Given the description of an element on the screen output the (x, y) to click on. 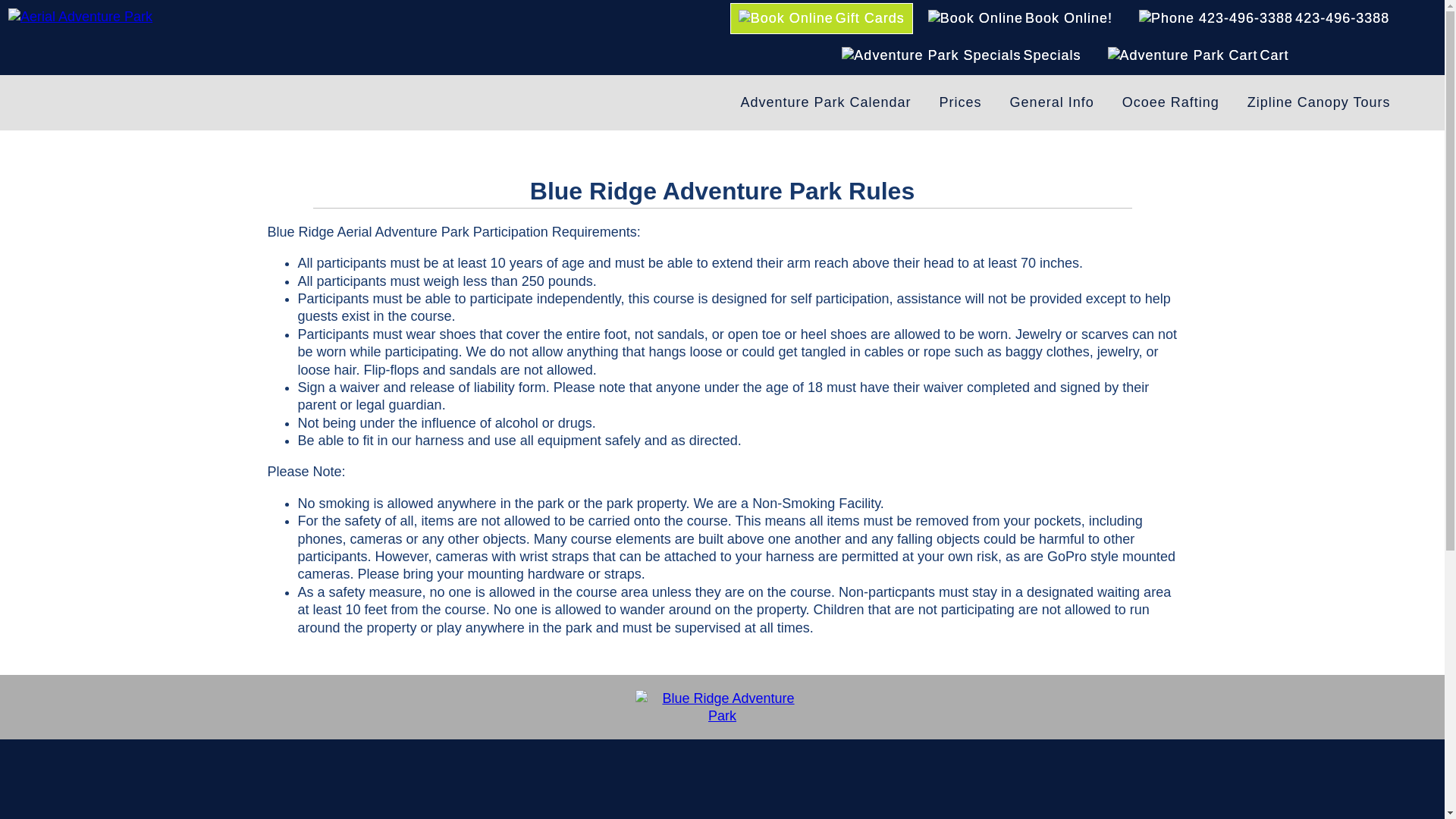
Cart (1198, 55)
Prices (960, 102)
Adventure Park Calendar (825, 102)
Ocoee Rafting (1170, 102)
423-496-3388 (1263, 18)
General Info (1051, 102)
Zipline Canopy Tours (1319, 102)
Specials (960, 55)
BOOK YOUR ADVENTURE! (722, 88)
Book Online! (1020, 18)
